Given the description of an element on the screen output the (x, y) to click on. 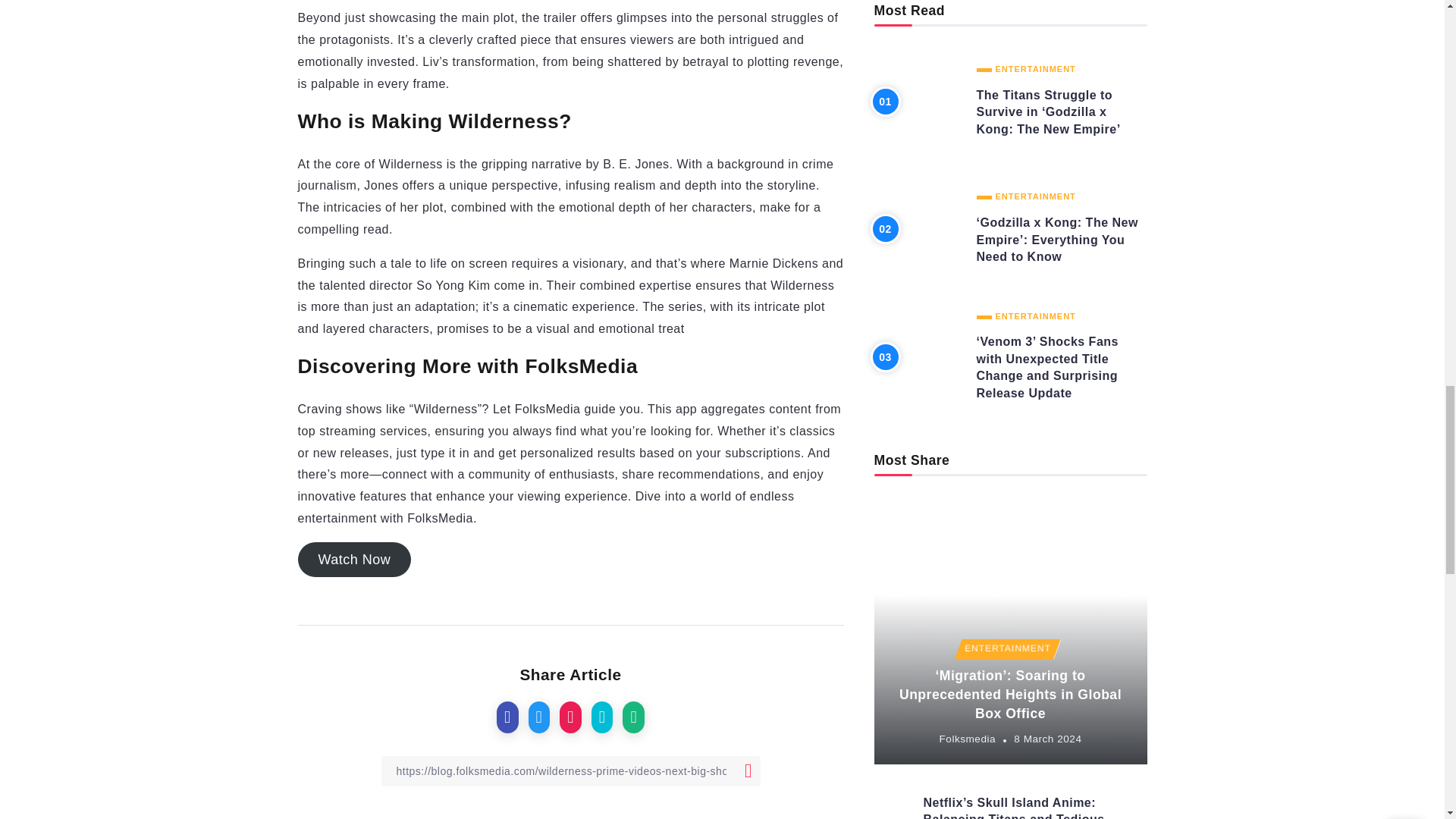
Watch Now (353, 560)
